Given the description of an element on the screen output the (x, y) to click on. 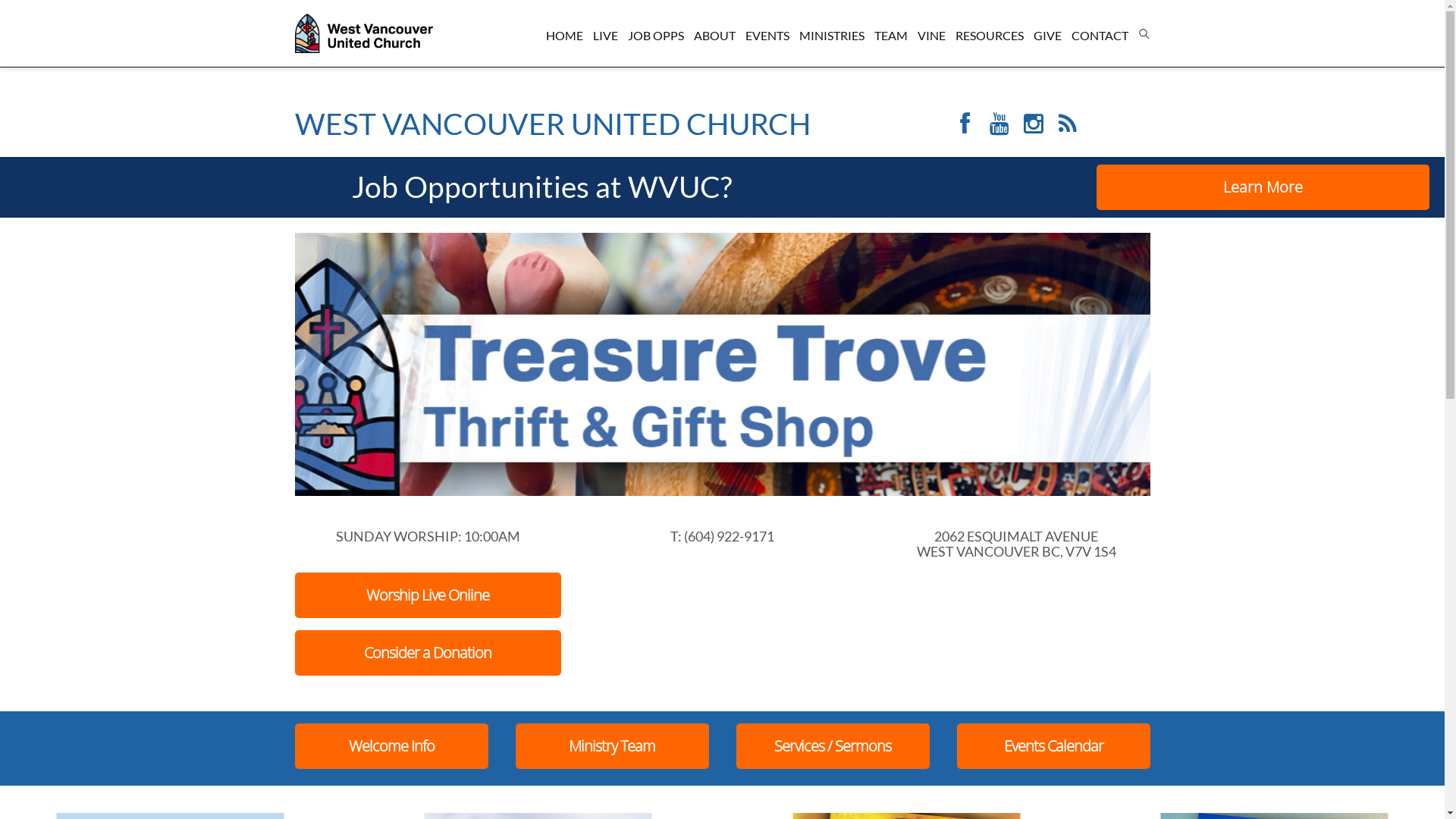
Services / Sermons Element type: text (831, 745)
Events Calendar Element type: text (1053, 745)
MINISTRIES Element type: text (831, 39)
TEAM Element type: text (889, 39)
VINE Element type: text (931, 39)
Consider a Donation Element type: text (427, 652)
GIVE Element type: text (1046, 39)
Ministry Team Element type: text (612, 745)
ABOUT Element type: text (713, 39)
JOB OPPS Element type: text (655, 39)
RESOURCES Element type: text (989, 39)
LIVE Element type: text (605, 39)
HOME Element type: text (564, 39)
Worship Live Online Element type: text (427, 595)
EVENTS Element type: text (766, 39)
CONTACT Element type: text (1098, 39)
Learn More Element type: text (1262, 187)
Welcome Info Element type: text (390, 745)
